Given the description of an element on the screen output the (x, y) to click on. 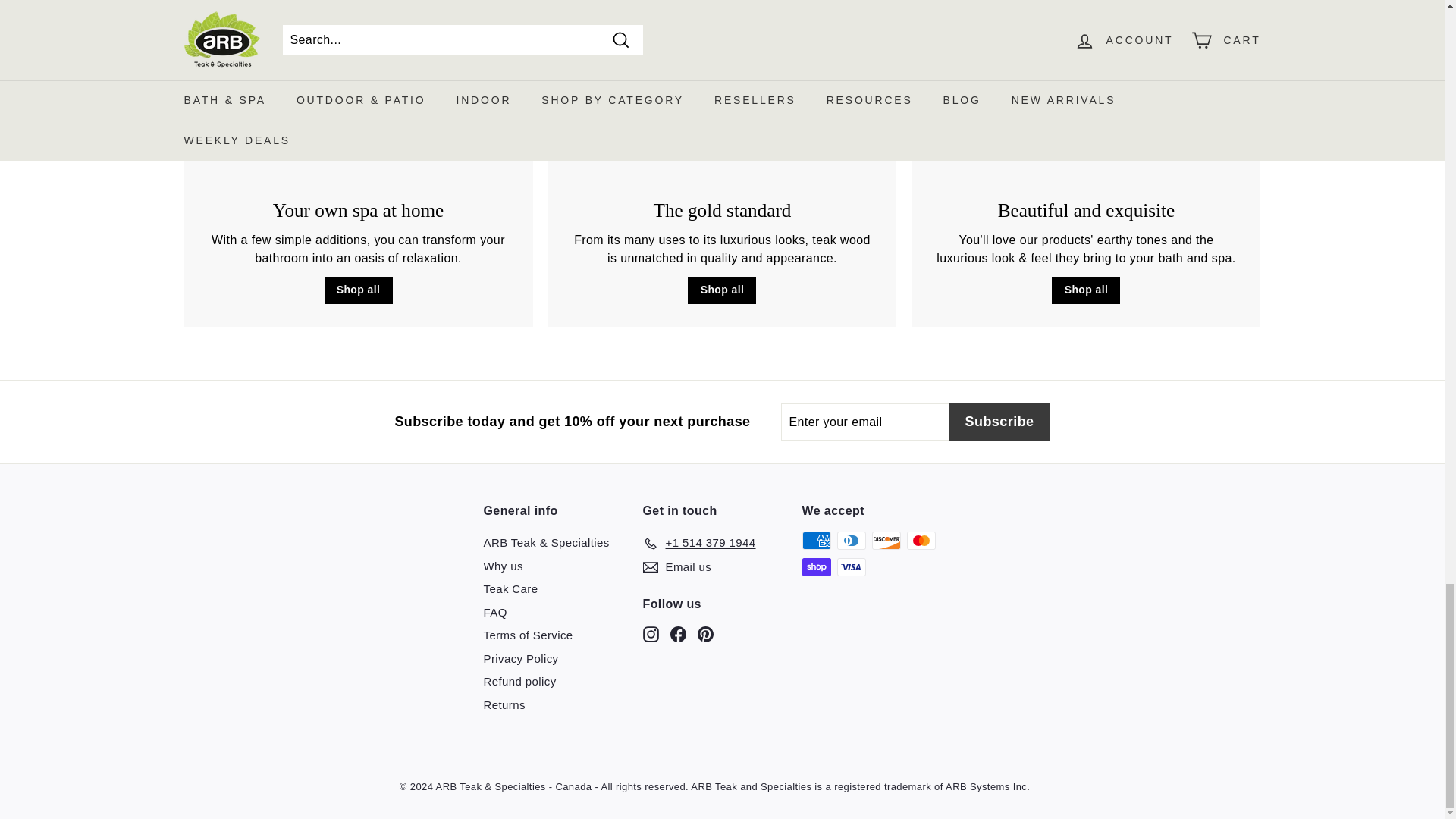
American Express (816, 540)
Diners Club (851, 540)
Discover (886, 540)
Shop Pay (816, 566)
Mastercard (921, 540)
